Given the description of an element on the screen output the (x, y) to click on. 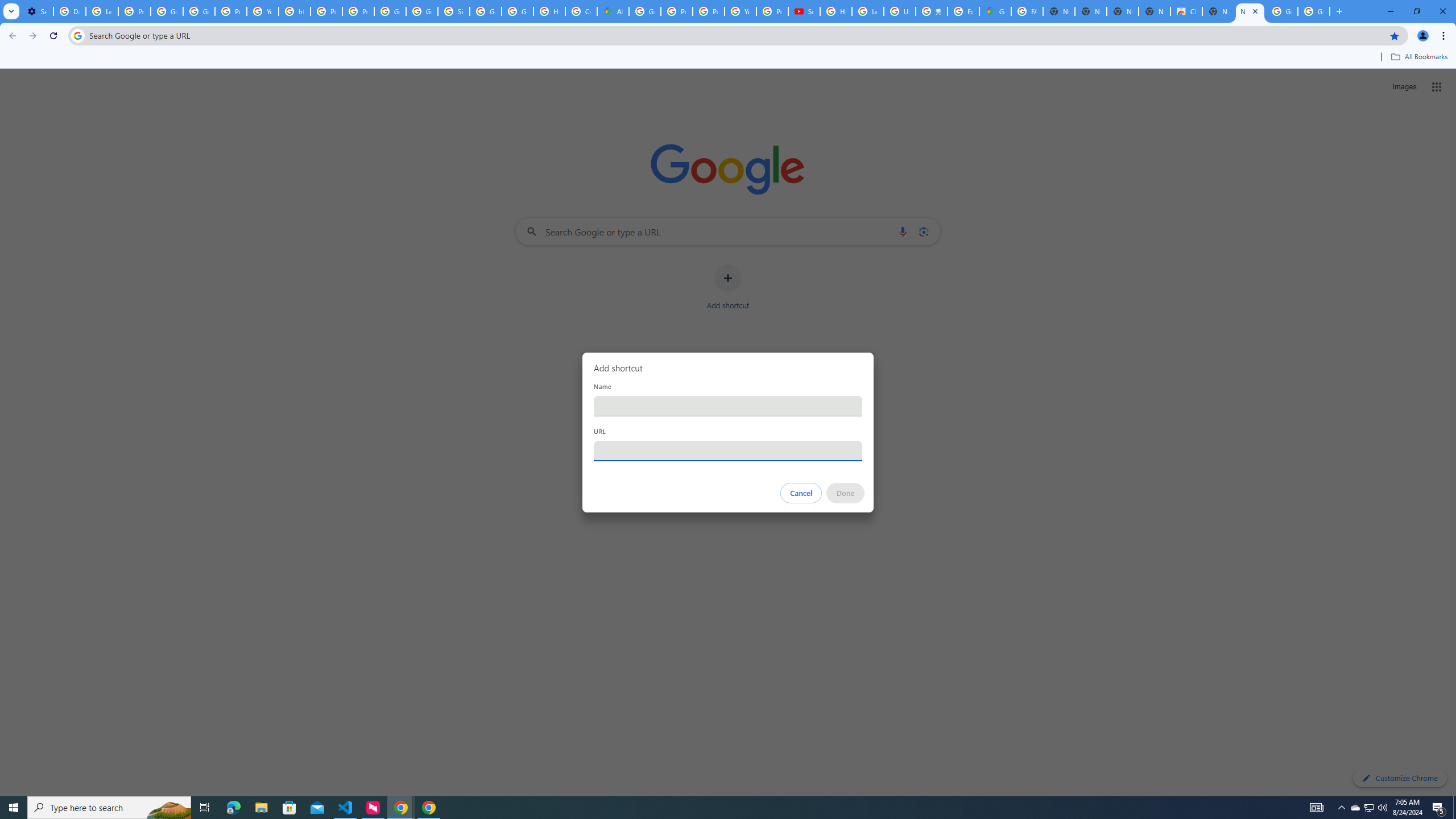
Google Account Help (166, 11)
Explore new street-level details - Google Maps Help (963, 11)
Name (727, 405)
Sign in - Google Accounts (453, 11)
